Given the description of an element on the screen output the (x, y) to click on. 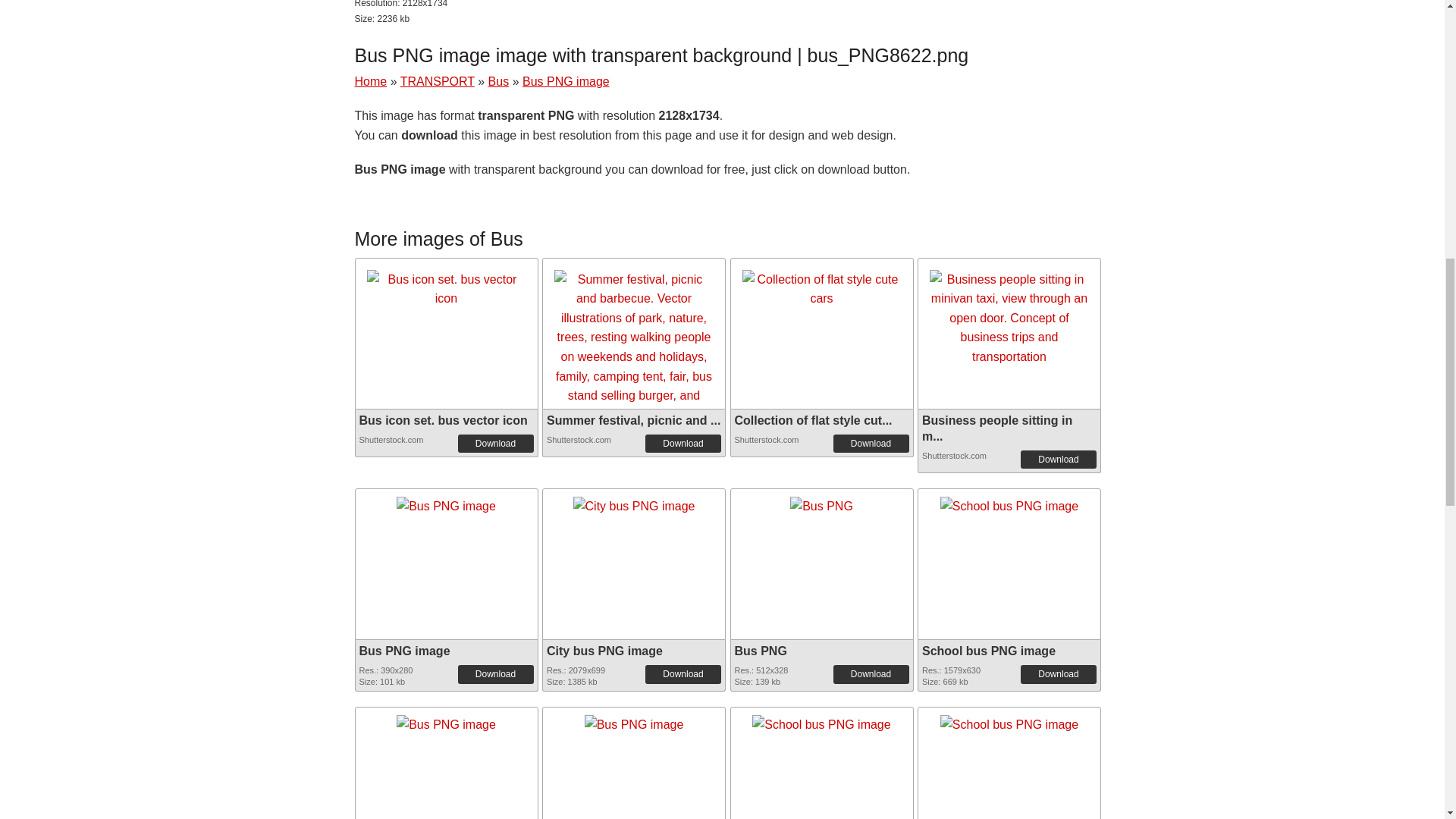
Bus PNG image (446, 719)
Download (682, 443)
Bus PNG image (446, 502)
Bus icon set. bus vector icon (445, 289)
Bus PNG image (566, 81)
Bus (498, 81)
City bus PNG image (634, 501)
School bus PNG image (1009, 501)
